Given the description of an element on the screen output the (x, y) to click on. 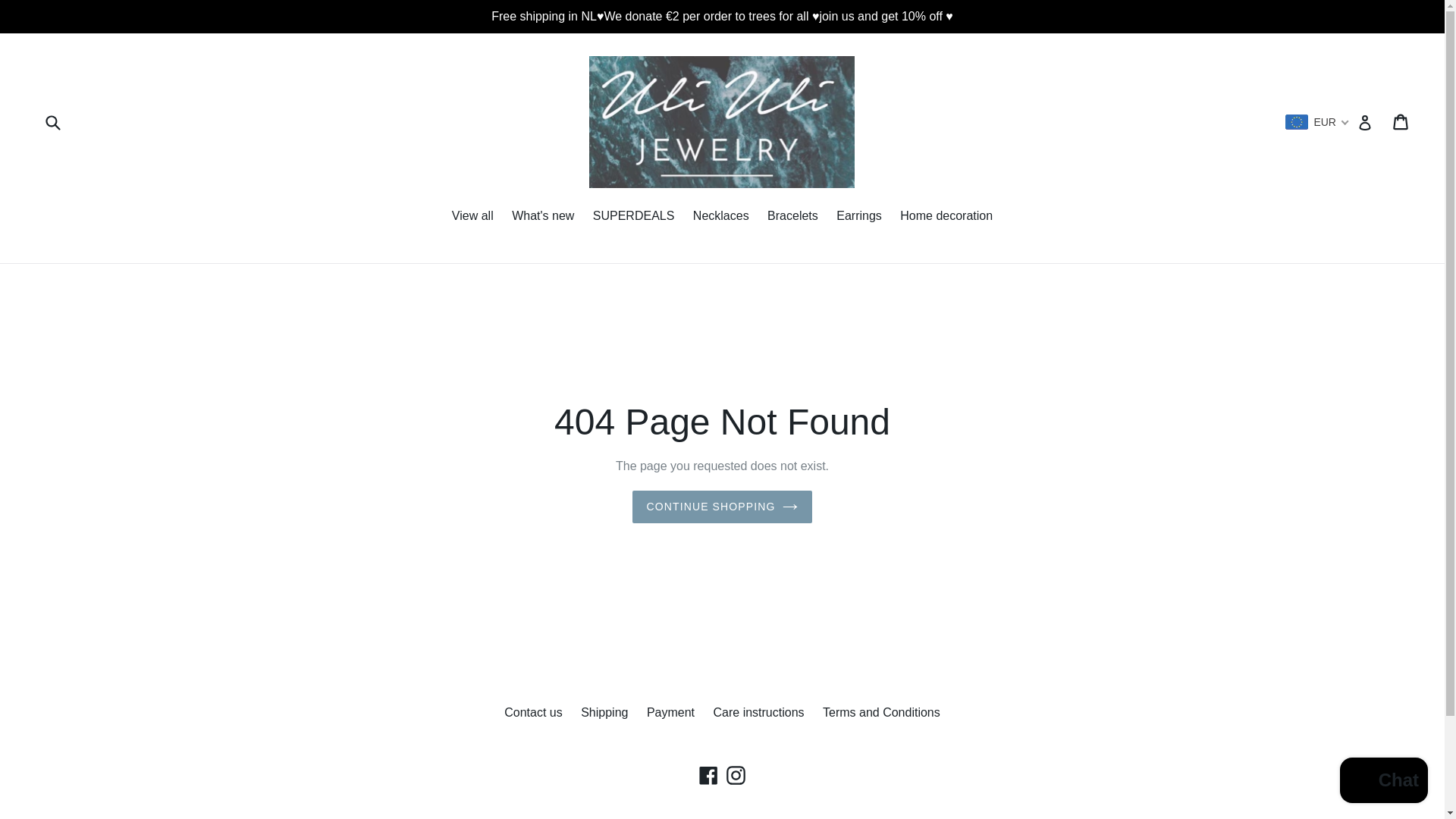
Instagram (735, 774)
Uli Uli Jewelry on Instagram (735, 774)
View all (472, 217)
What's new (541, 217)
SUPERDEALS (633, 217)
Earrings (858, 217)
Facebook (708, 774)
Shipping (603, 712)
Home decoration (946, 217)
Necklaces (721, 217)
